Given the description of an element on the screen output the (x, y) to click on. 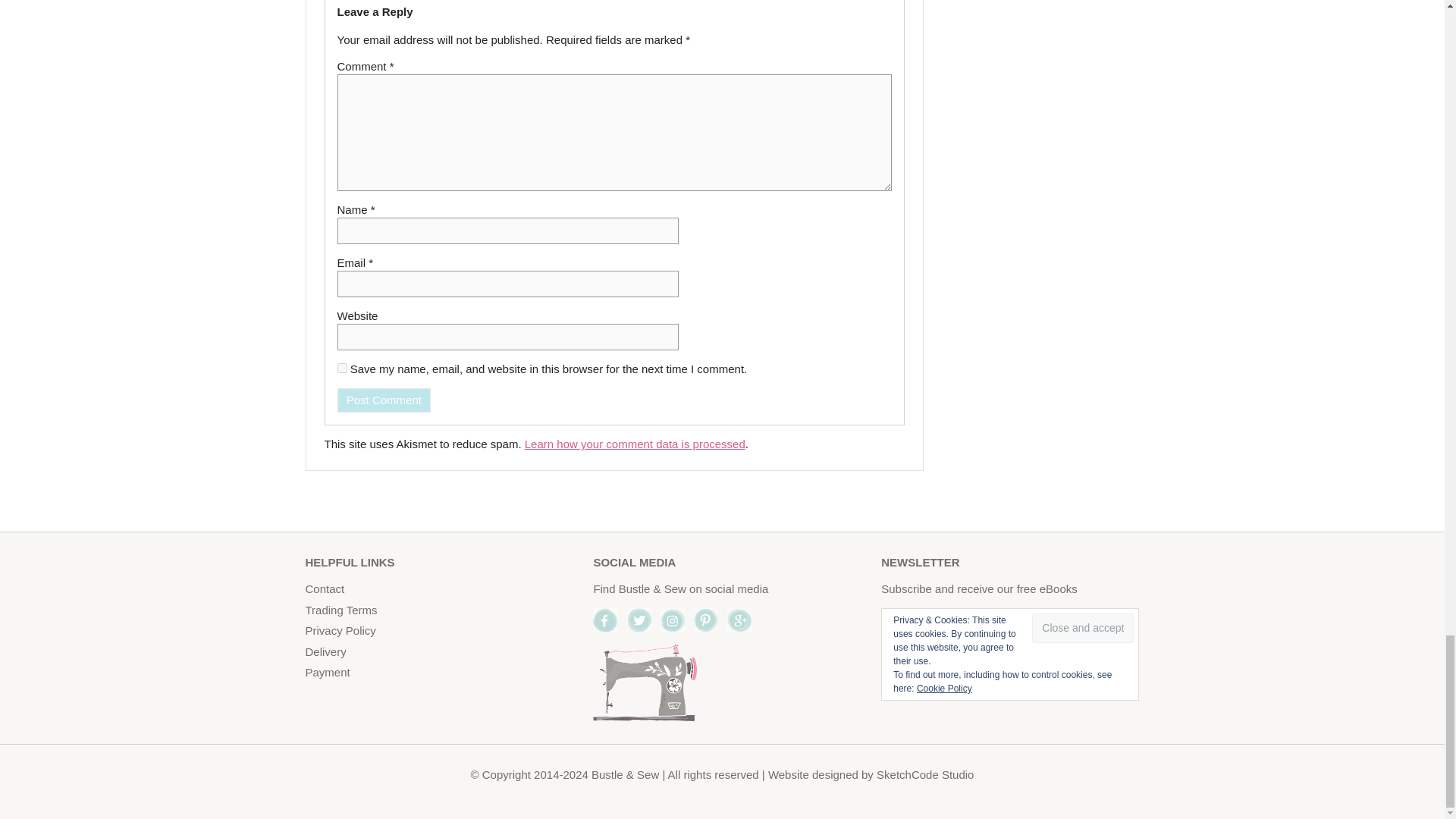
Website Design and Development (925, 774)
Close and accept (1083, 627)
yes (341, 368)
Post Comment (383, 400)
